Given the description of an element on the screen output the (x, y) to click on. 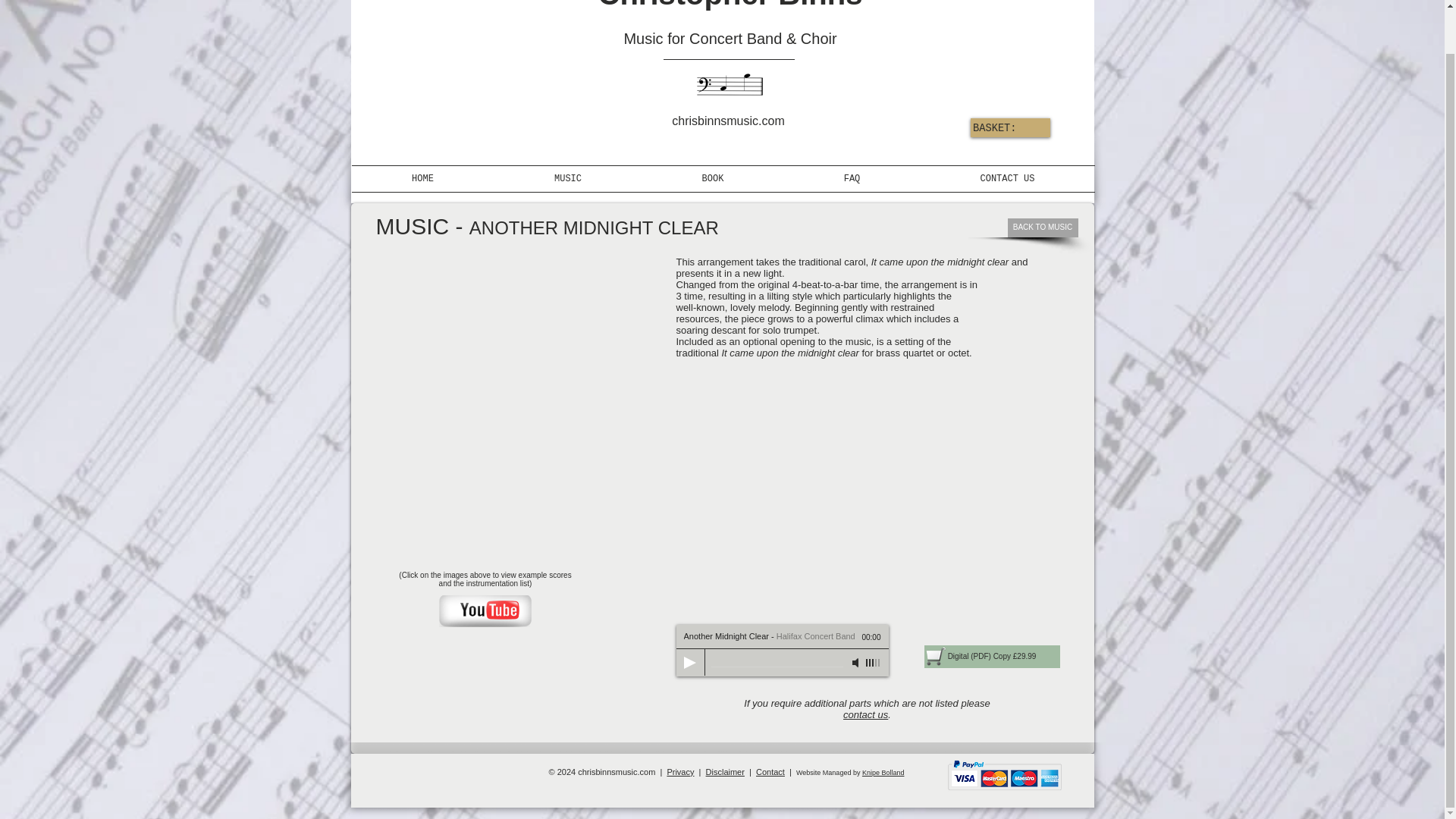
CONTACT US (1007, 178)
Contact (769, 771)
BACK TO MUSIC (1042, 227)
HOME (423, 178)
chrisbinnsmusic.com (729, 86)
Knipe Bolland (882, 772)
BASKET: (1006, 127)
FAQ (852, 178)
BASKET: (1006, 127)
contact us (865, 714)
Disclaimer (725, 771)
0 (777, 663)
BOOK (712, 178)
Privacy (680, 771)
MUSIC (568, 178)
